Given the description of an element on the screen output the (x, y) to click on. 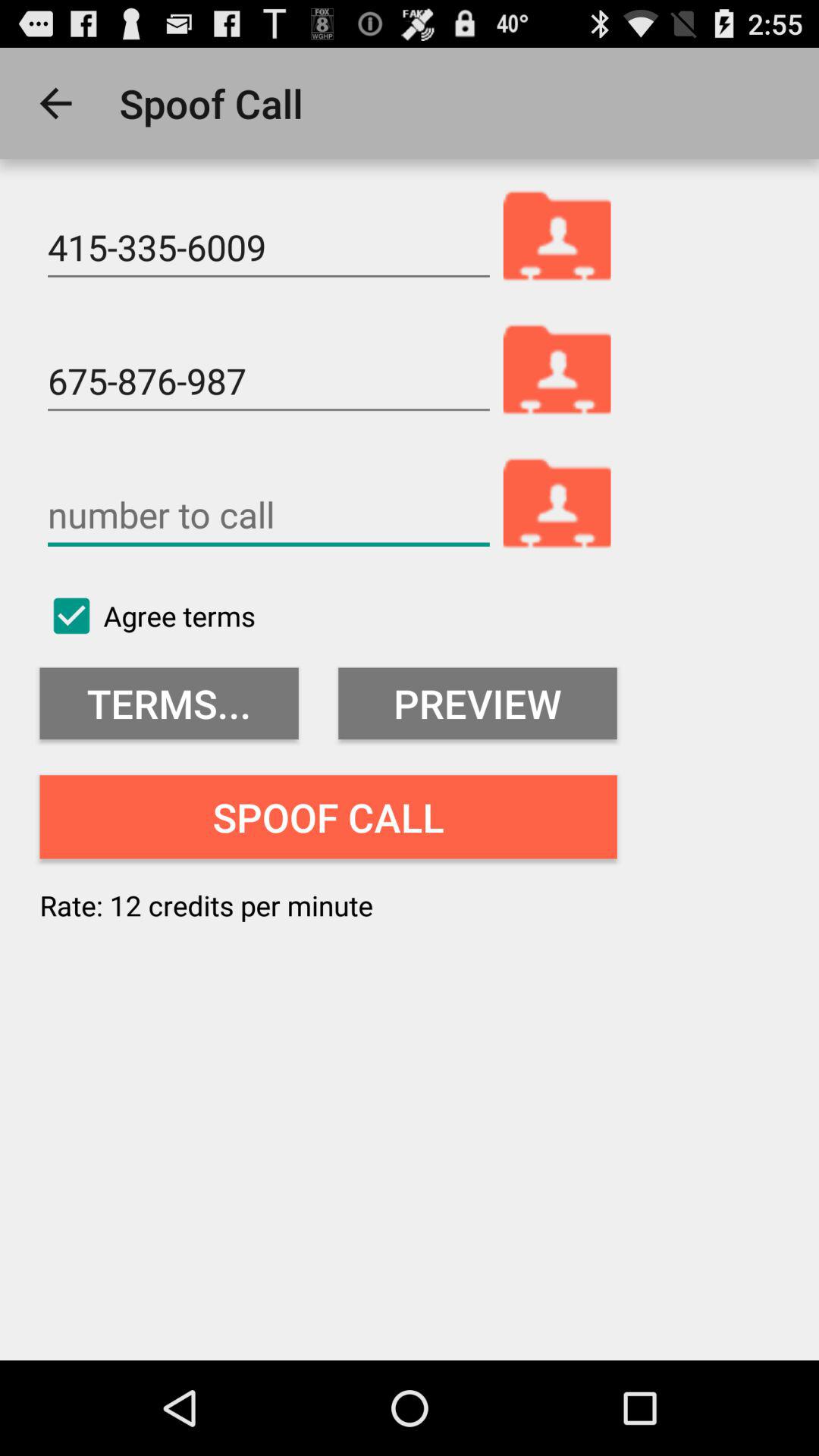
launch icon above 415-335-6009 icon (55, 103)
